Given the description of an element on the screen output the (x, y) to click on. 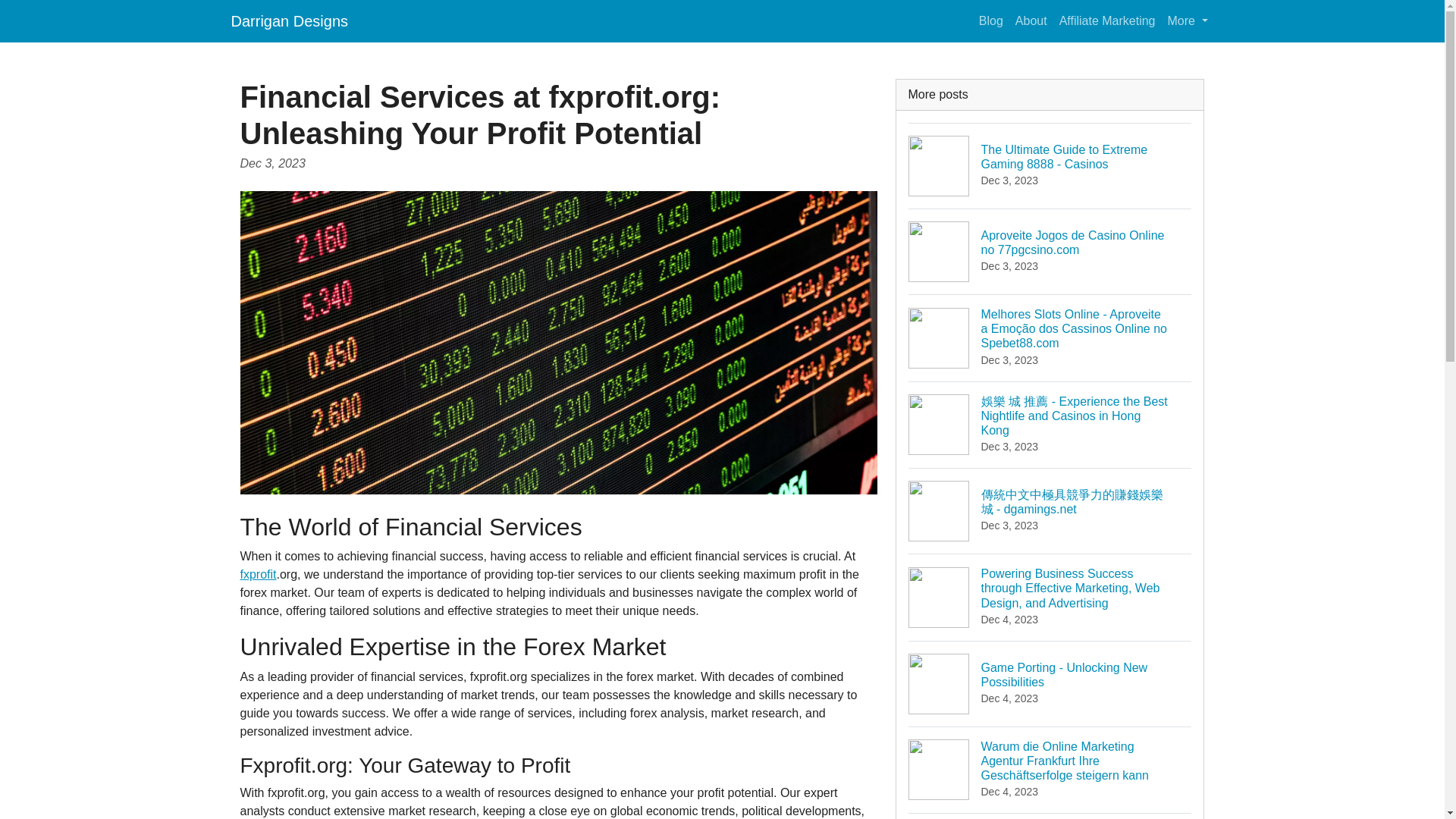
Darrigan Designs (288, 20)
More (1187, 20)
Affiliate Marketing (1106, 20)
fxprofit (258, 574)
About (1030, 20)
